Given the description of an element on the screen output the (x, y) to click on. 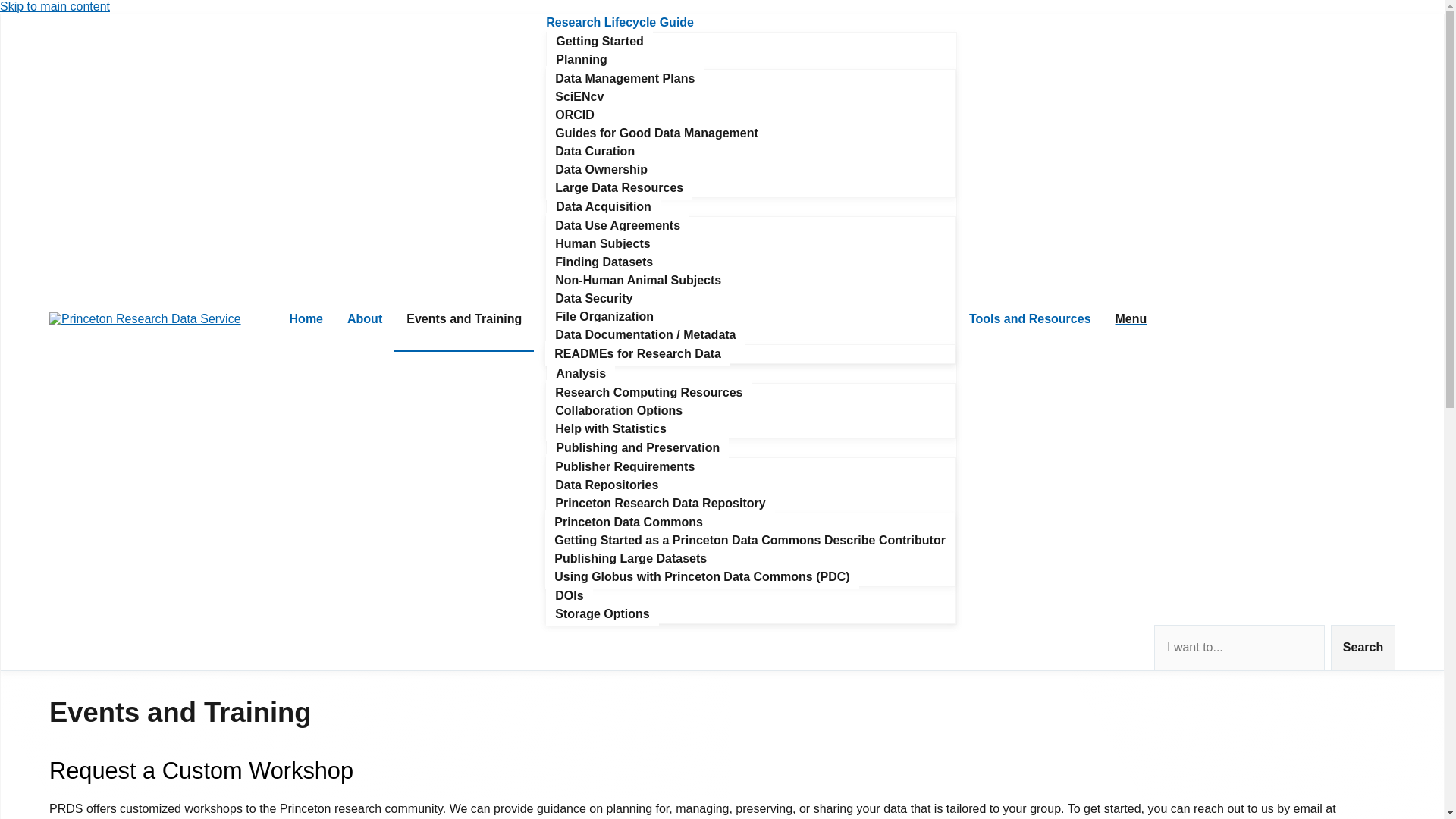
Planning (581, 59)
Publishing Large Datasets (630, 558)
Storage Options (602, 613)
Menu (1131, 318)
Getting Started (599, 41)
Research Computing Resources (648, 392)
Data Management Plans (624, 78)
Guides for Good Data Management (656, 132)
Skip to main content (55, 6)
ORCID (575, 114)
DOIs (569, 595)
Home (306, 320)
PDC repository (627, 521)
Data Use Agreements (617, 225)
